Given the description of an element on the screen output the (x, y) to click on. 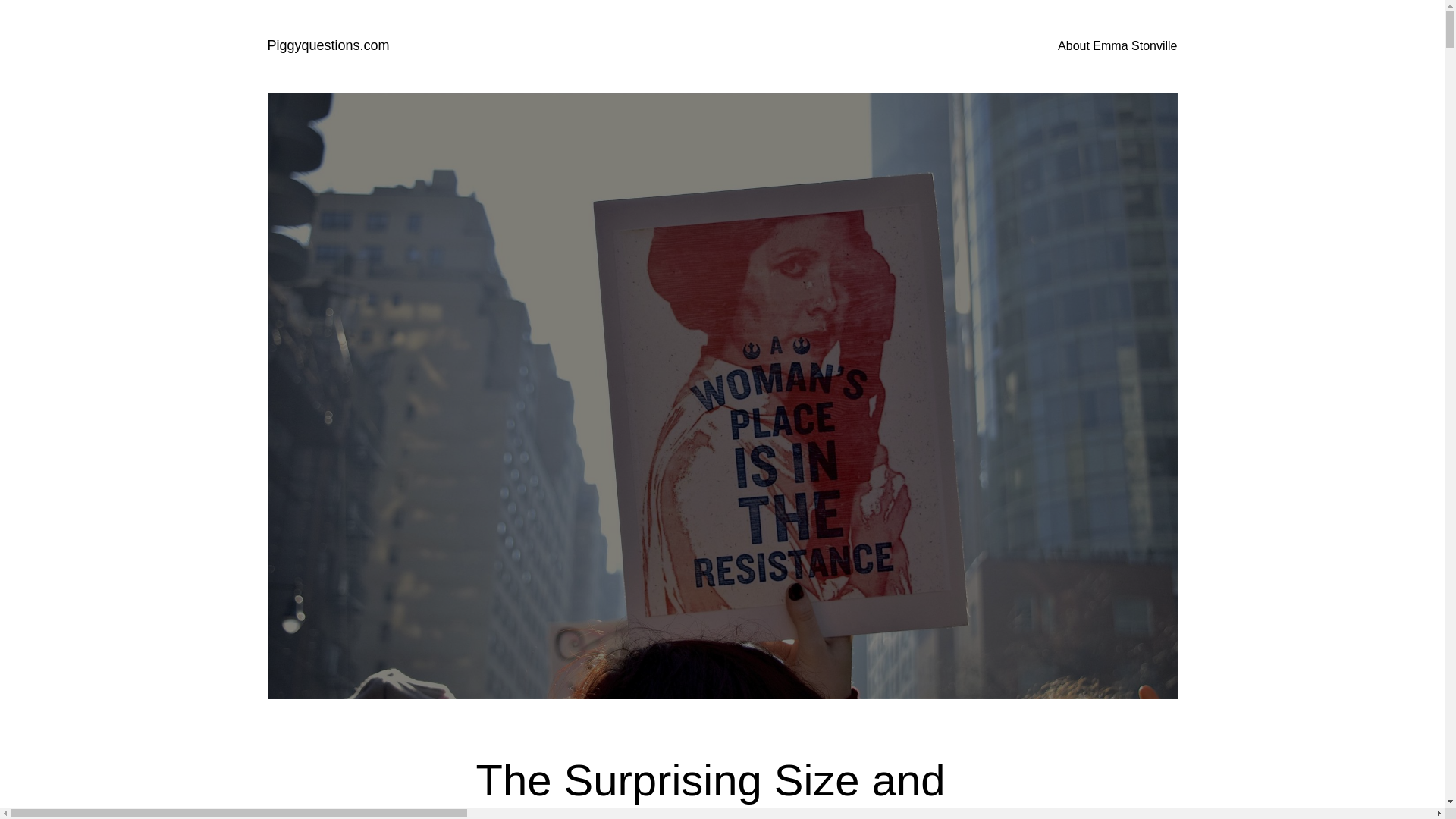
About Emma Stonville (1117, 46)
Piggyquestions.com (327, 45)
